Given the description of an element on the screen output the (x, y) to click on. 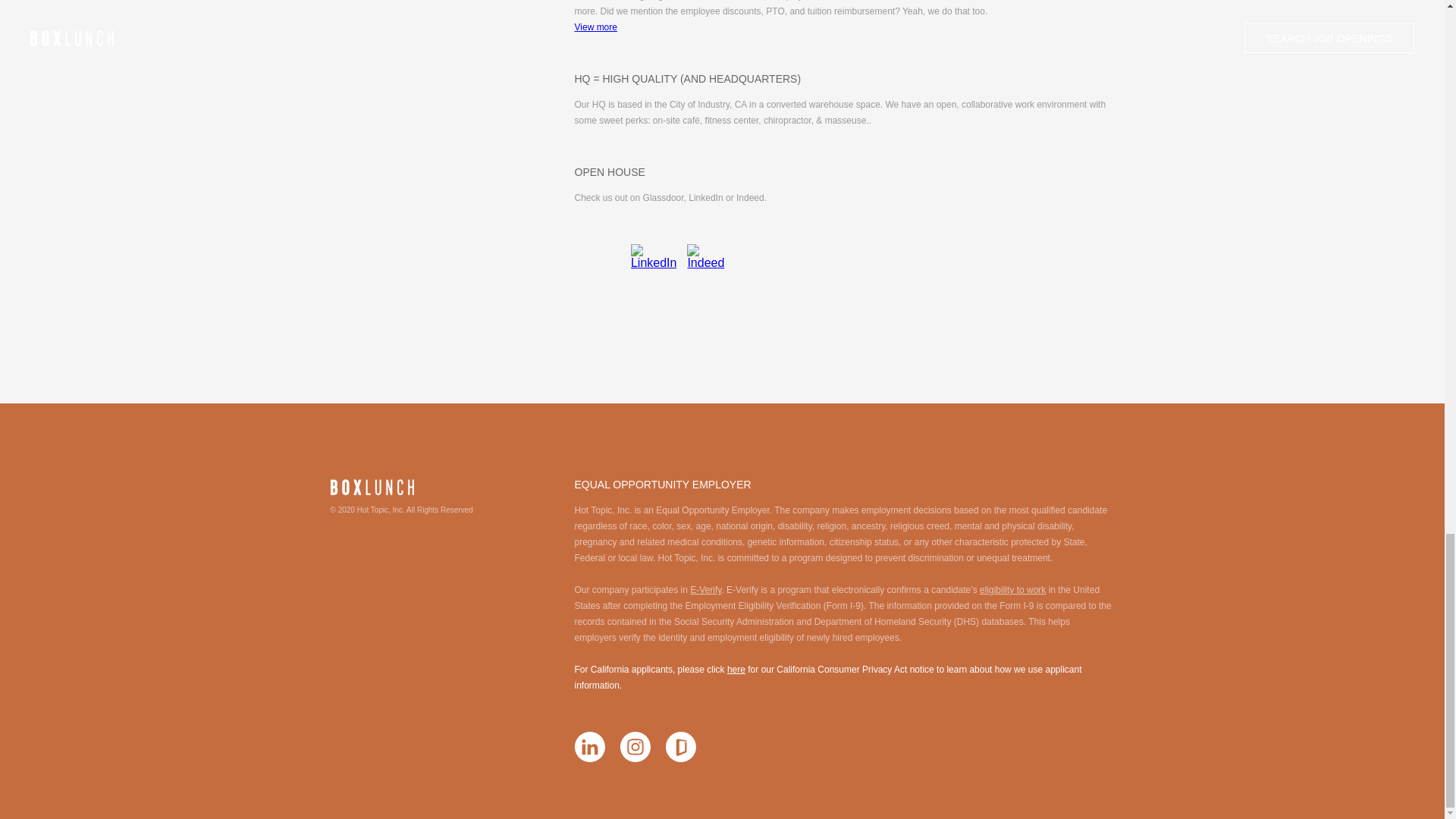
here (735, 669)
eligibility to work (1012, 589)
E-Verify (705, 589)
View more (596, 27)
Instagram (635, 747)
Glassdoor (680, 747)
LinkedIn (590, 747)
